Given the description of an element on the screen output the (x, y) to click on. 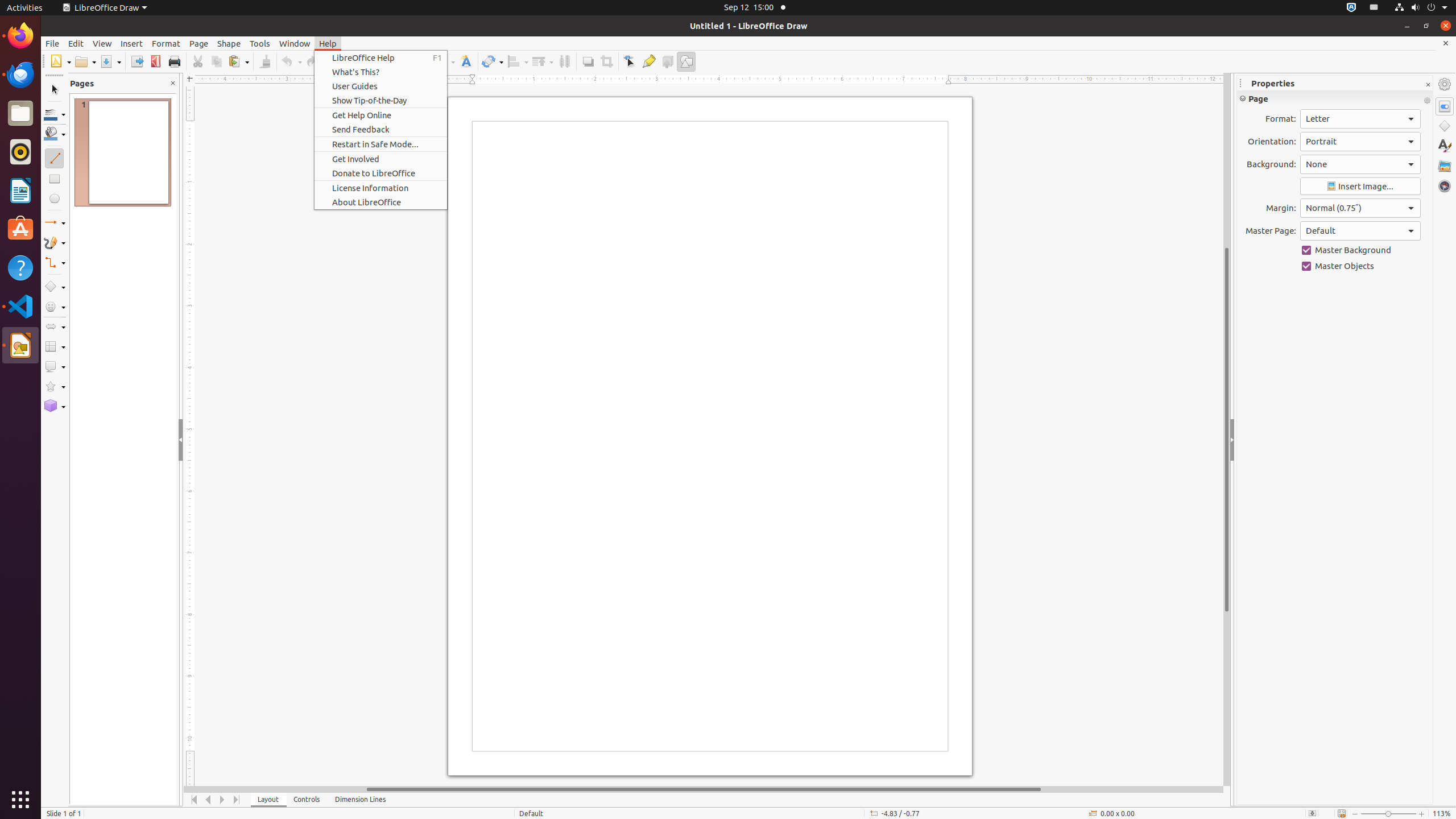
More Options Element type: push-button (1426, 100)
Horizontal scroll bar Element type: scroll-bar (703, 789)
Insert Element type: menu (131, 43)
Shape Element type: menu (228, 43)
Print Element type: push-button (173, 61)
